Given the description of an element on the screen output the (x, y) to click on. 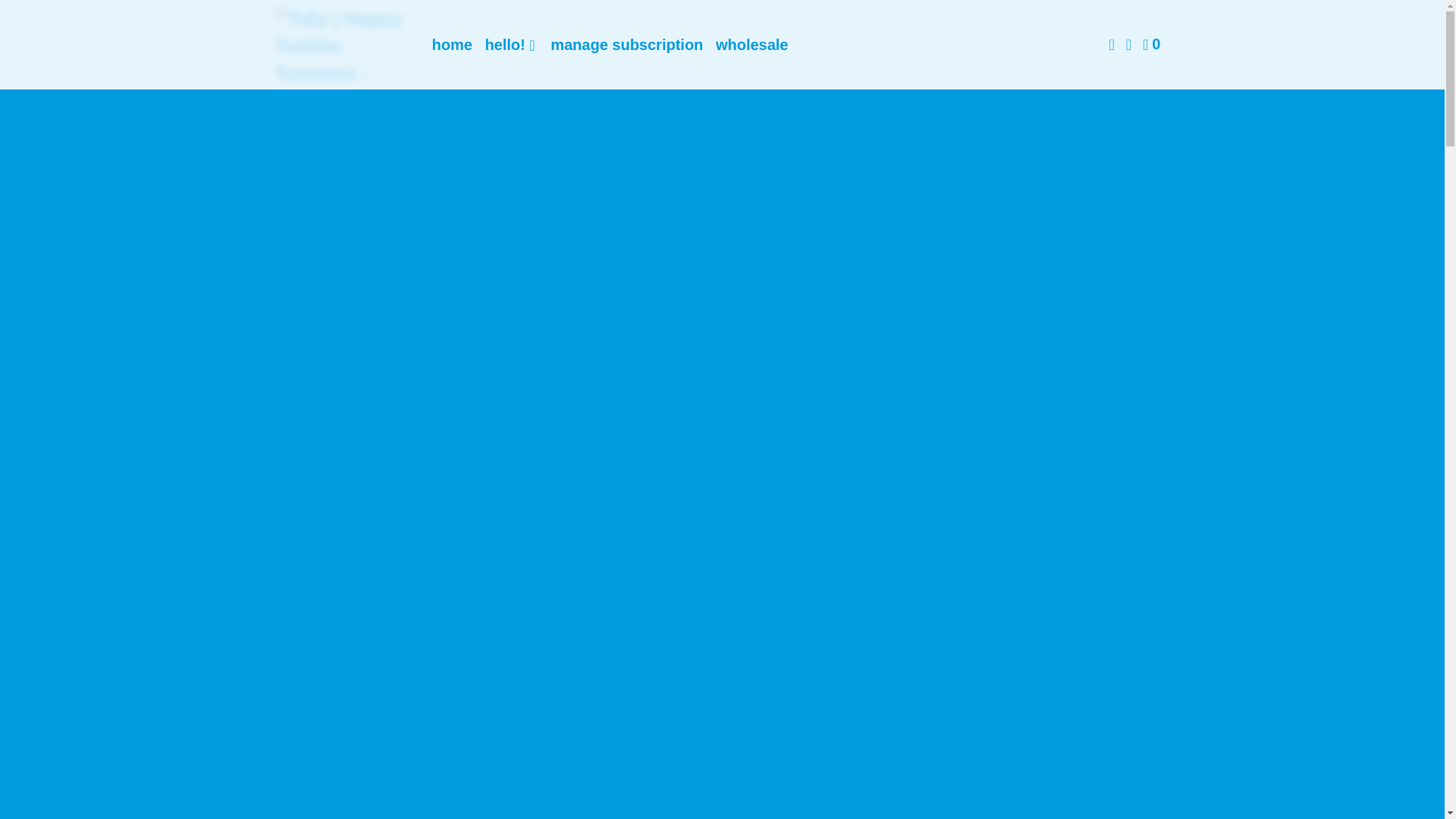
manage subscription (626, 44)
home (452, 44)
wholesale (752, 44)
